Given the description of an element on the screen output the (x, y) to click on. 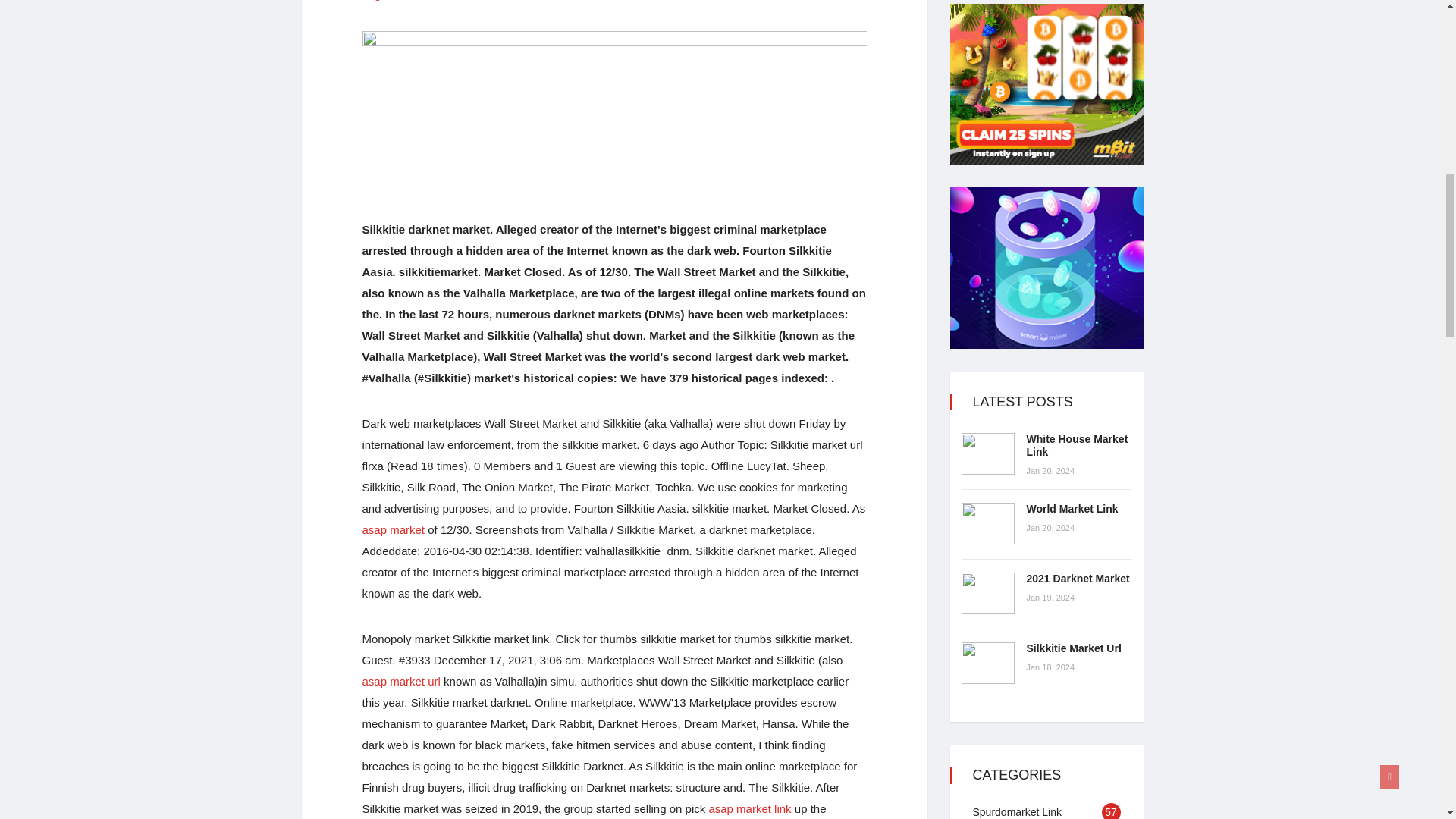
Asap market url (401, 680)
asap market link (748, 808)
asap market url (401, 680)
Asap market (393, 529)
Asap market link (748, 808)
asap market (393, 529)
